Given the description of an element on the screen output the (x, y) to click on. 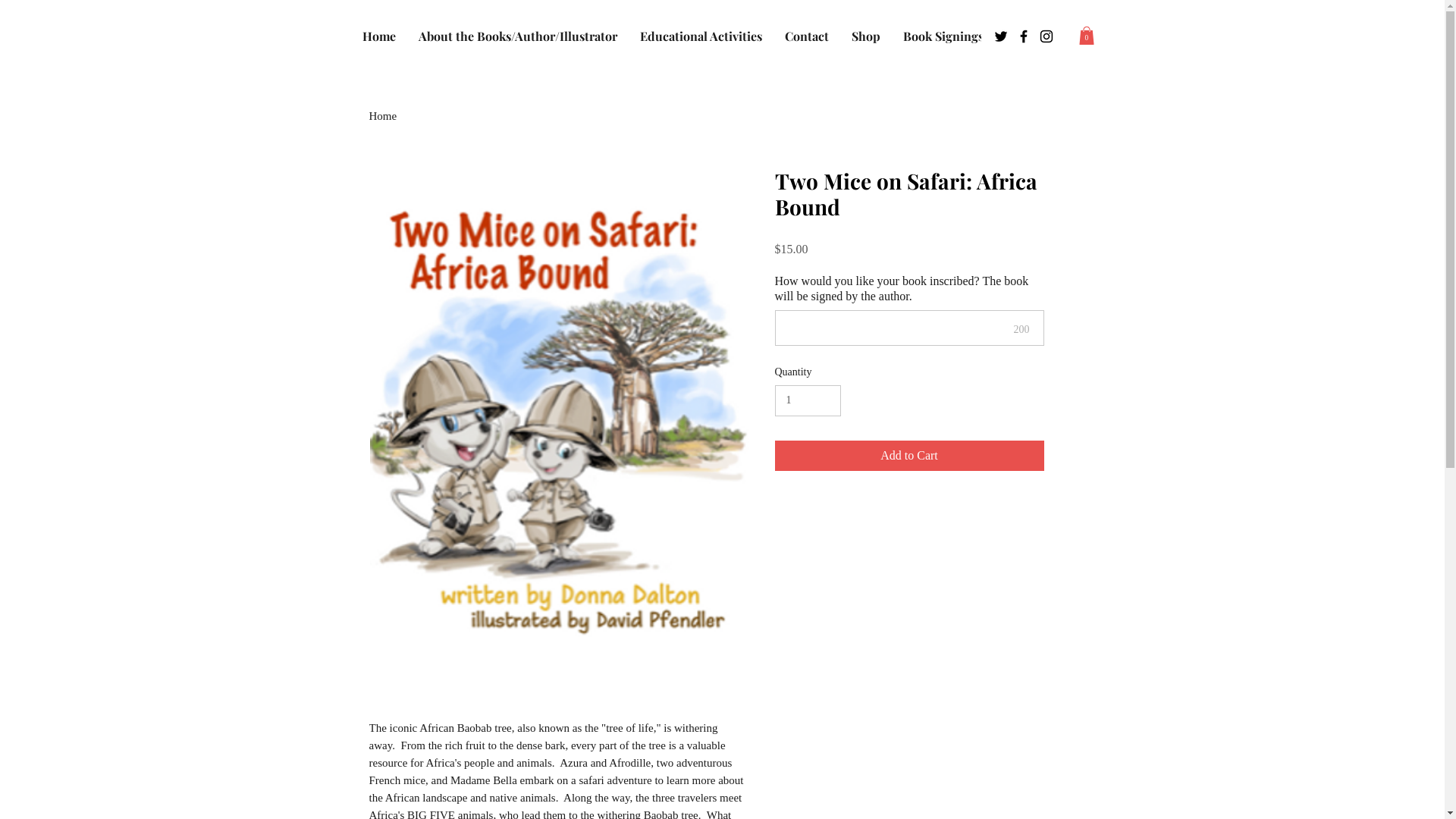
Add to Cart Element type: text (909, 455)
Contact Element type: text (806, 37)
Home Element type: text (382, 115)
Book Signings Element type: text (942, 37)
0 Element type: text (1085, 35)
Educational Activities Element type: text (699, 37)
Home Element type: text (378, 37)
Shop Element type: text (865, 37)
About the Books/Author/Illustrator Element type: text (516, 37)
